Given the description of an element on the screen output the (x, y) to click on. 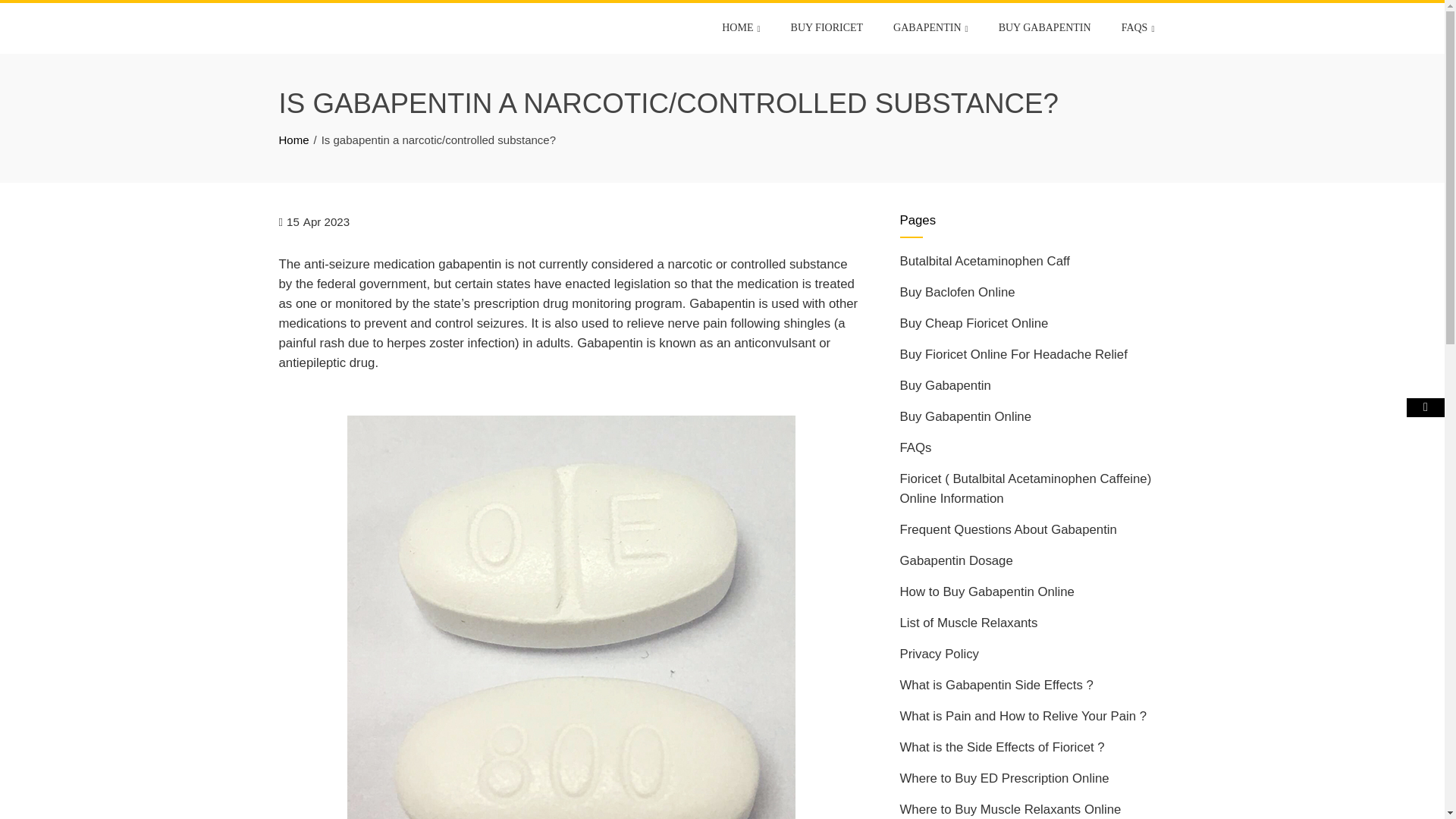
Where to Buy ED Prescription Online (1003, 778)
GABAPENTIN (930, 28)
Home (293, 139)
Buy Baclofen Online (956, 292)
What is Pain and How to Relive Your Pain ? (1023, 716)
Buy Gabapentin (944, 385)
FAQS (1137, 28)
Buy Gabapentin Online (964, 416)
BUY FIORICET (826, 27)
Buy Cheap Fioricet Online (973, 323)
Gabapentin Dosage (955, 560)
What is the Side Effects of Fioricet ? (1001, 747)
BUY GABAPENTIN (1044, 27)
Buy Fioricet Online For Headache Relief (1012, 354)
Privacy Policy (938, 653)
